Given the description of an element on the screen output the (x, y) to click on. 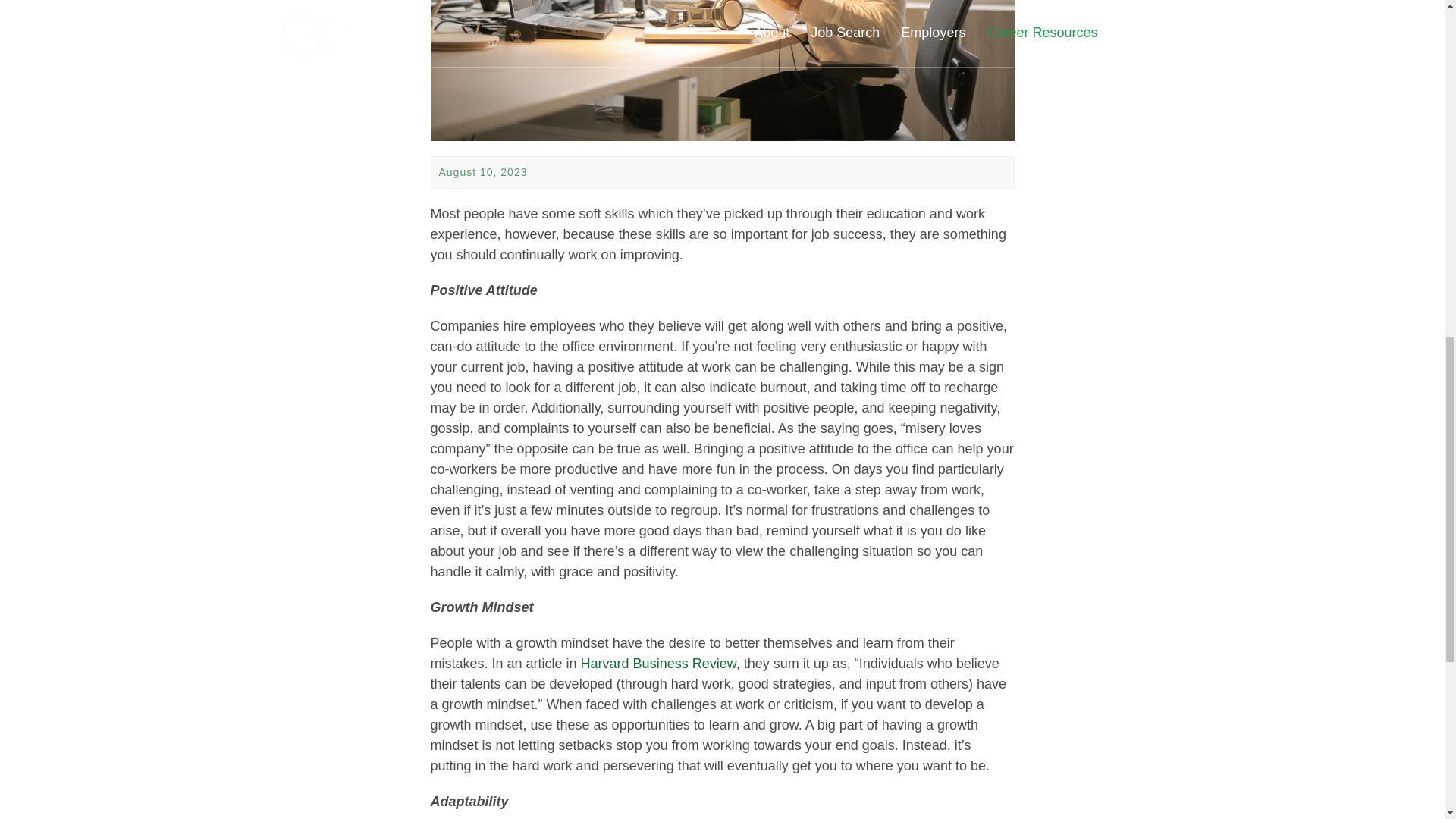
Harvard Business Review (658, 663)
